Given the description of an element on the screen output the (x, y) to click on. 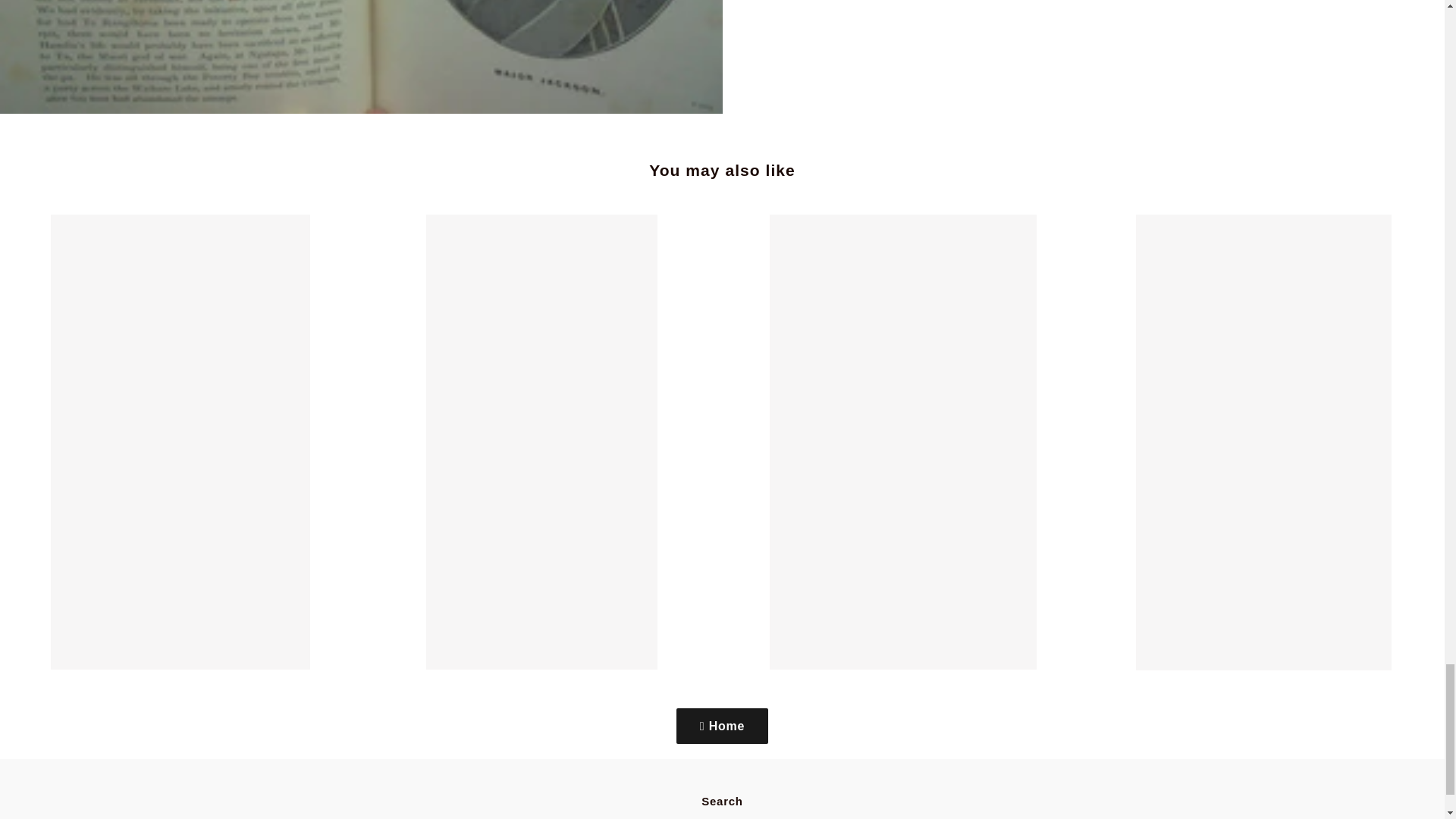
Home (722, 726)
Search (721, 801)
